Given the description of an element on the screen output the (x, y) to click on. 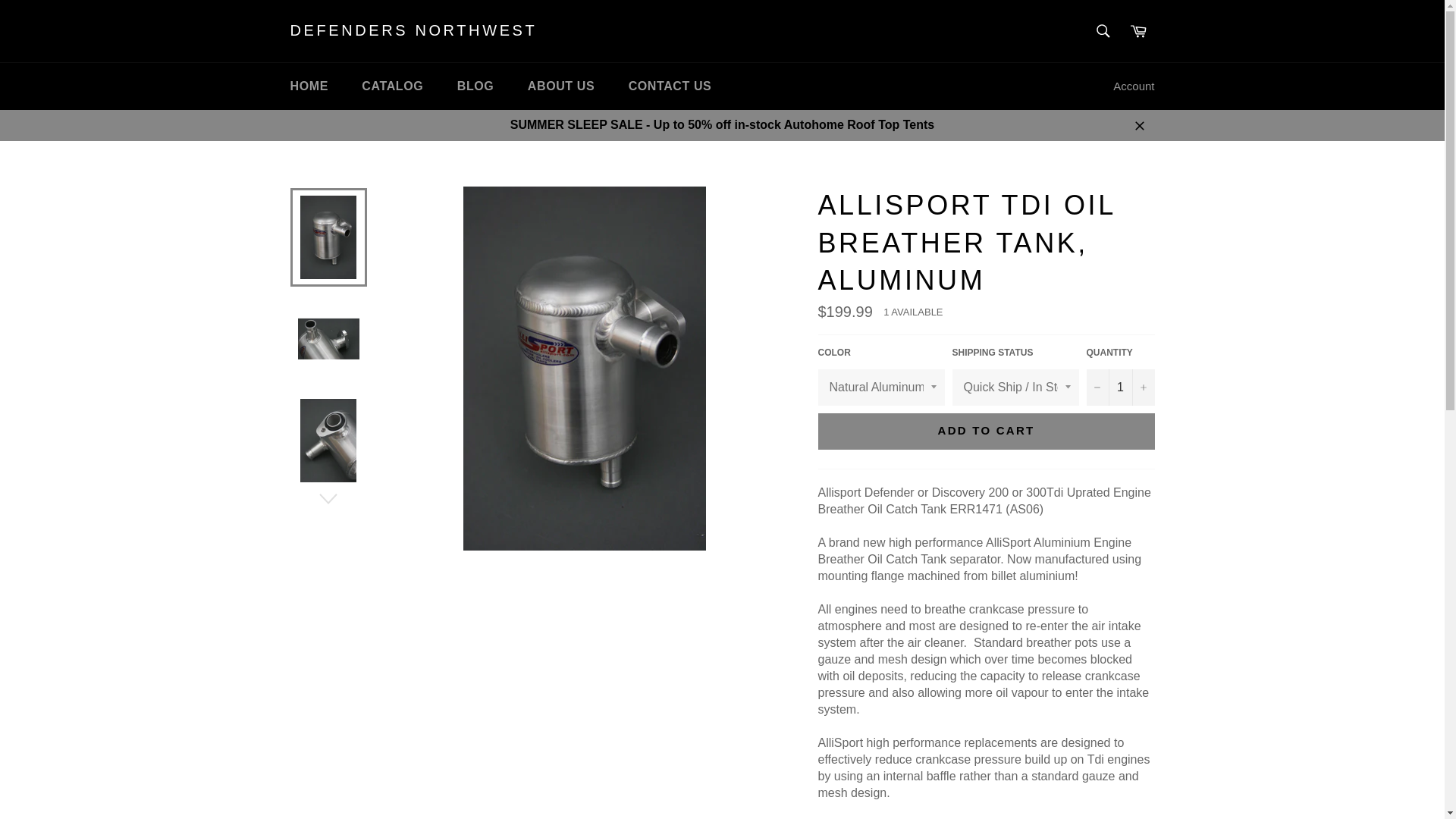
ABOUT US (561, 86)
CONTACT US (669, 86)
1 (1120, 387)
DEFENDERS NORTHWEST (413, 30)
BLOG (475, 86)
Account (1133, 86)
HOME (308, 86)
ADD TO CART (985, 431)
CATALOG (392, 86)
Cart (1138, 30)
